Given the description of an element on the screen output the (x, y) to click on. 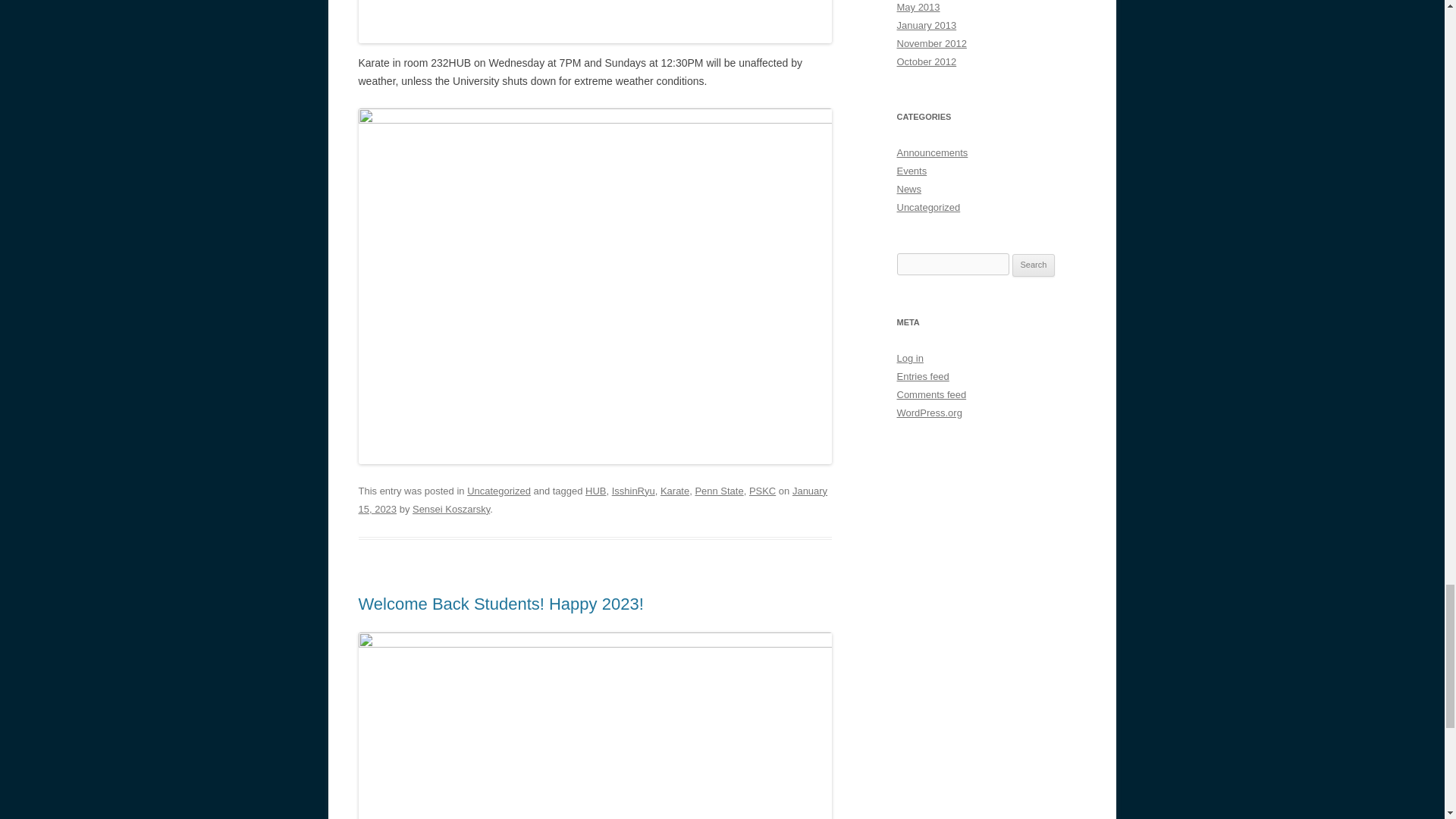
12:56 am (592, 500)
View all posts by Sensei Koszarsky (450, 509)
Search (1033, 264)
